Given the description of an element on the screen output the (x, y) to click on. 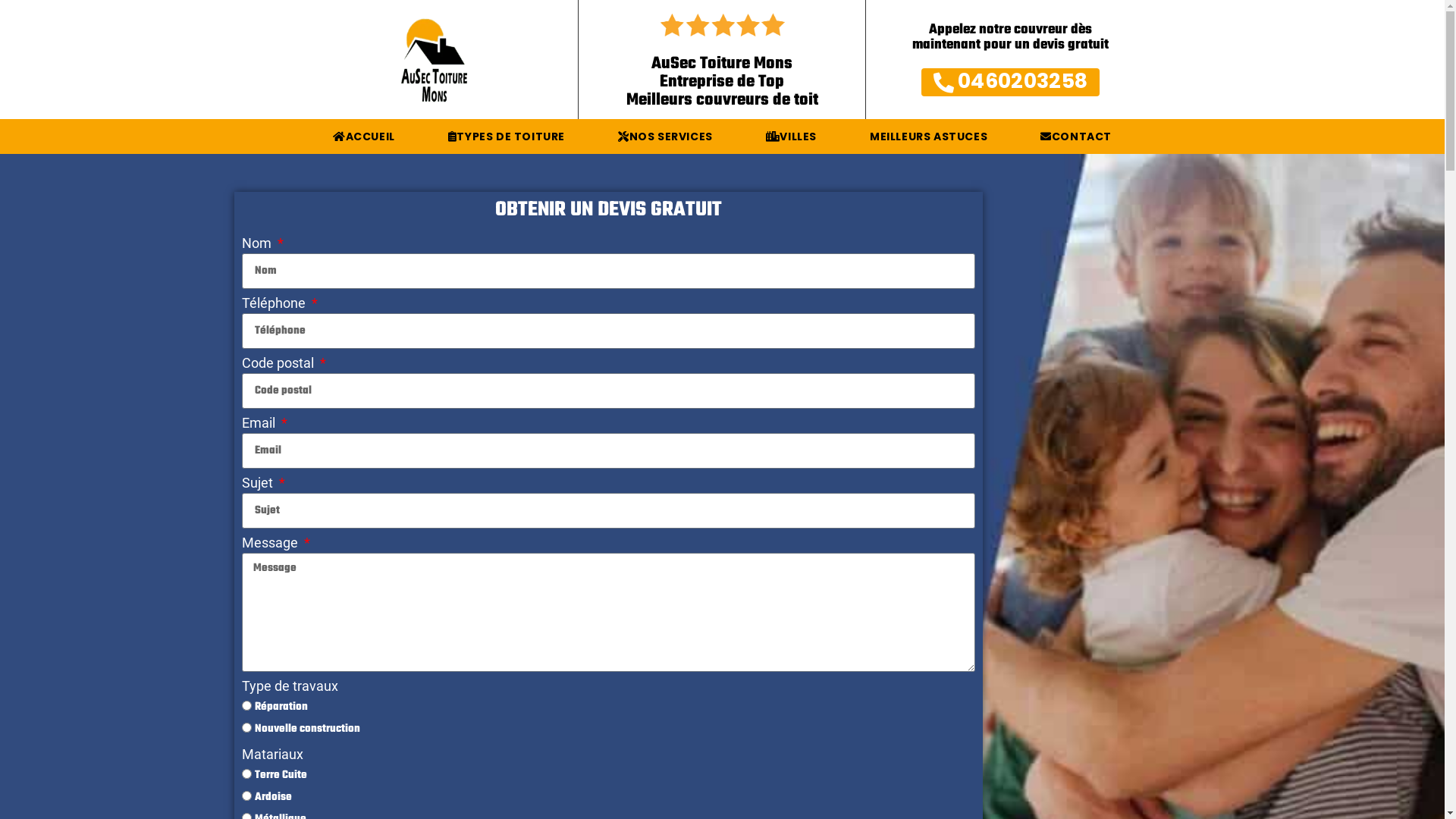
NOS SERVICES Element type: text (665, 136)
0460203258 Element type: text (1010, 82)
VILLES Element type: text (791, 136)
TYPES DE TOITURE Element type: text (506, 136)
ACCUEIL Element type: text (363, 136)
MEILLEURS ASTUCES Element type: text (928, 136)
CONTACT Element type: text (1075, 136)
